Given the description of an element on the screen output the (x, y) to click on. 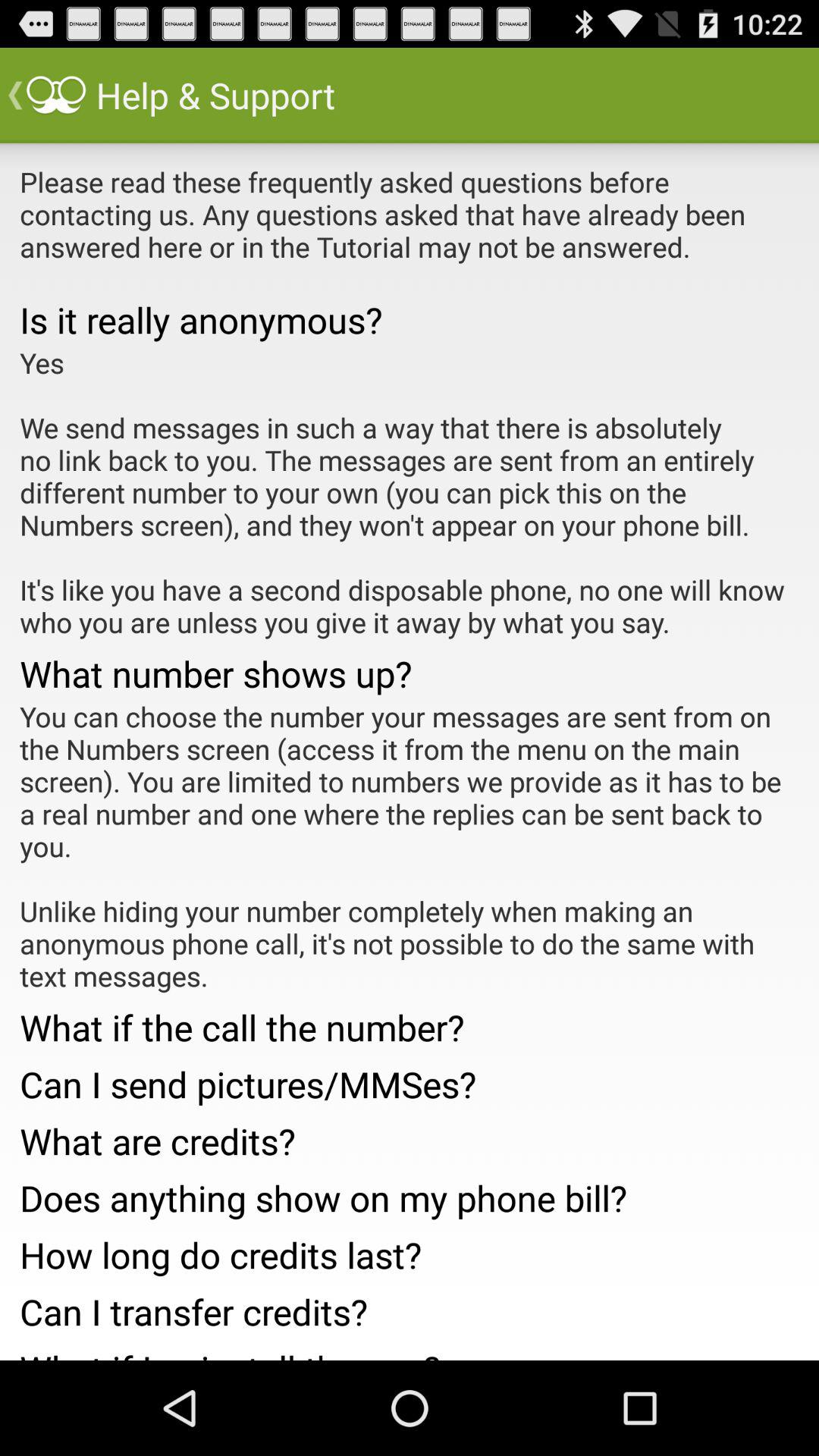
tap icon above the can i transfer item (409, 1250)
